Given the description of an element on the screen output the (x, y) to click on. 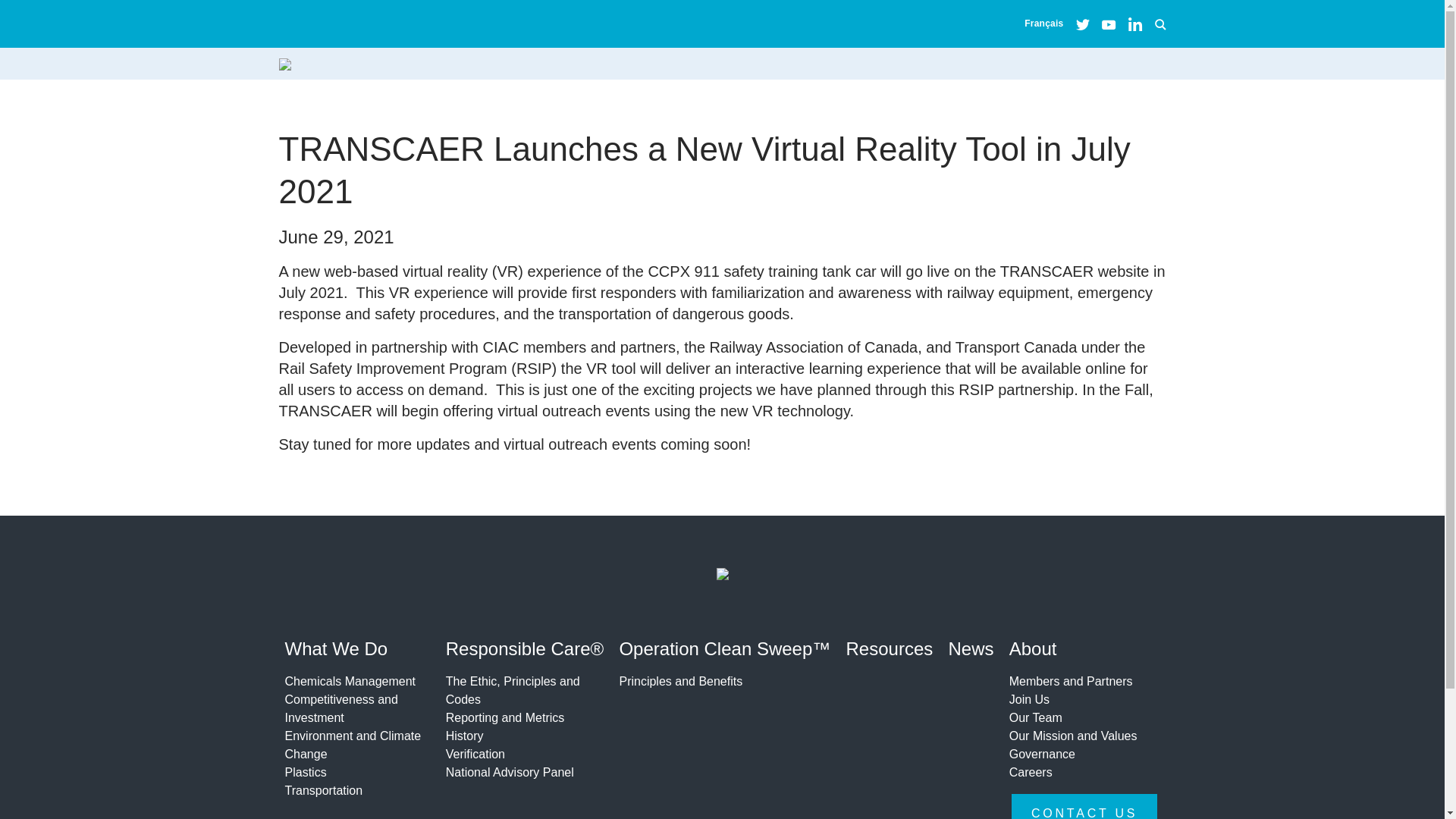
Transportation (354, 791)
Competitiveness and Investment (354, 709)
Chemicals Management (354, 681)
Environment and Climate Change (354, 745)
What We Do (354, 651)
Plastics (354, 772)
